Given the description of an element on the screen output the (x, y) to click on. 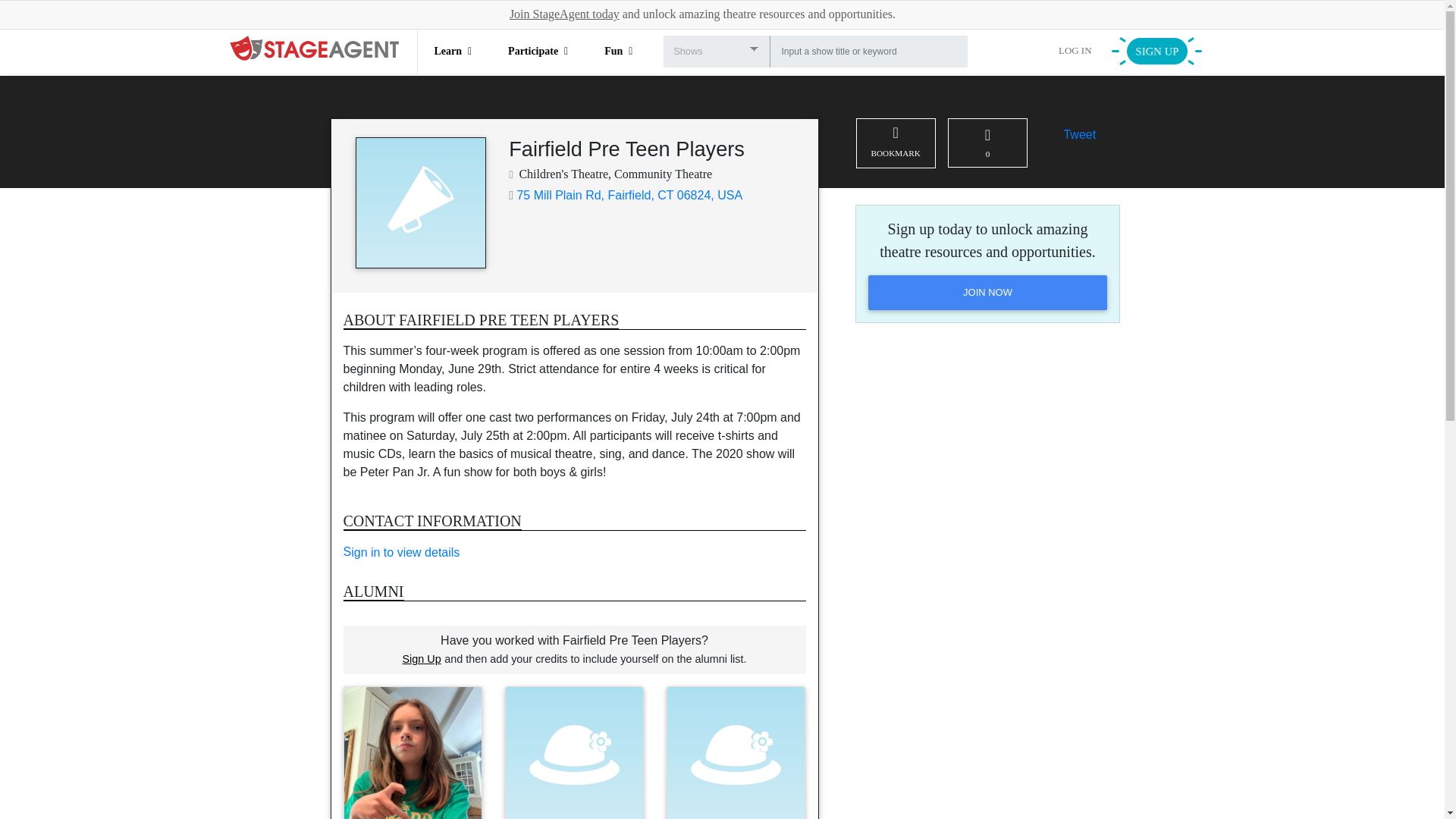
Learn (454, 50)
Learn (454, 50)
